Given the description of an element on the screen output the (x, y) to click on. 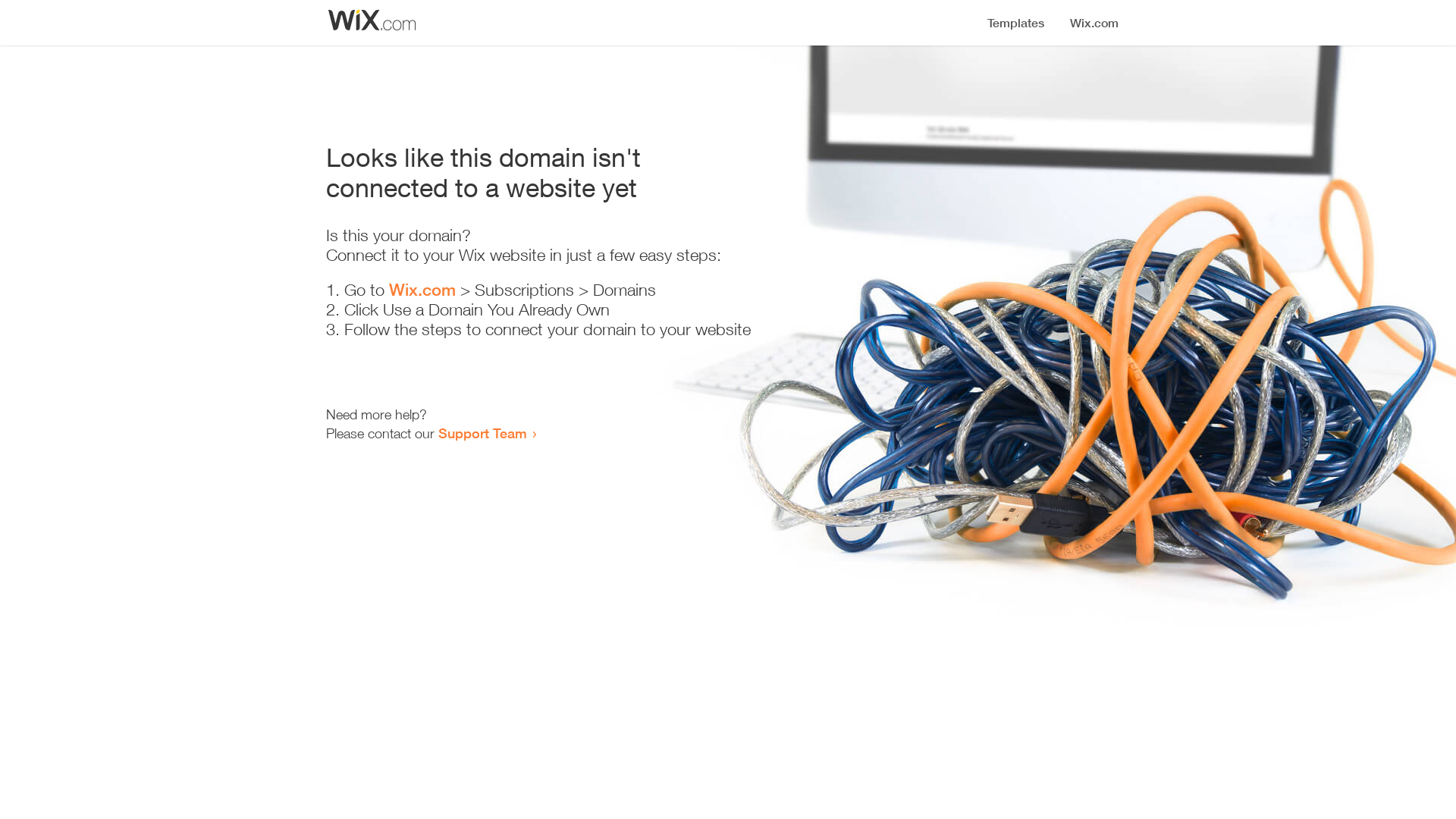
Support Team Element type: text (482, 432)
Wix.com Element type: text (422, 289)
